Given the description of an element on the screen output the (x, y) to click on. 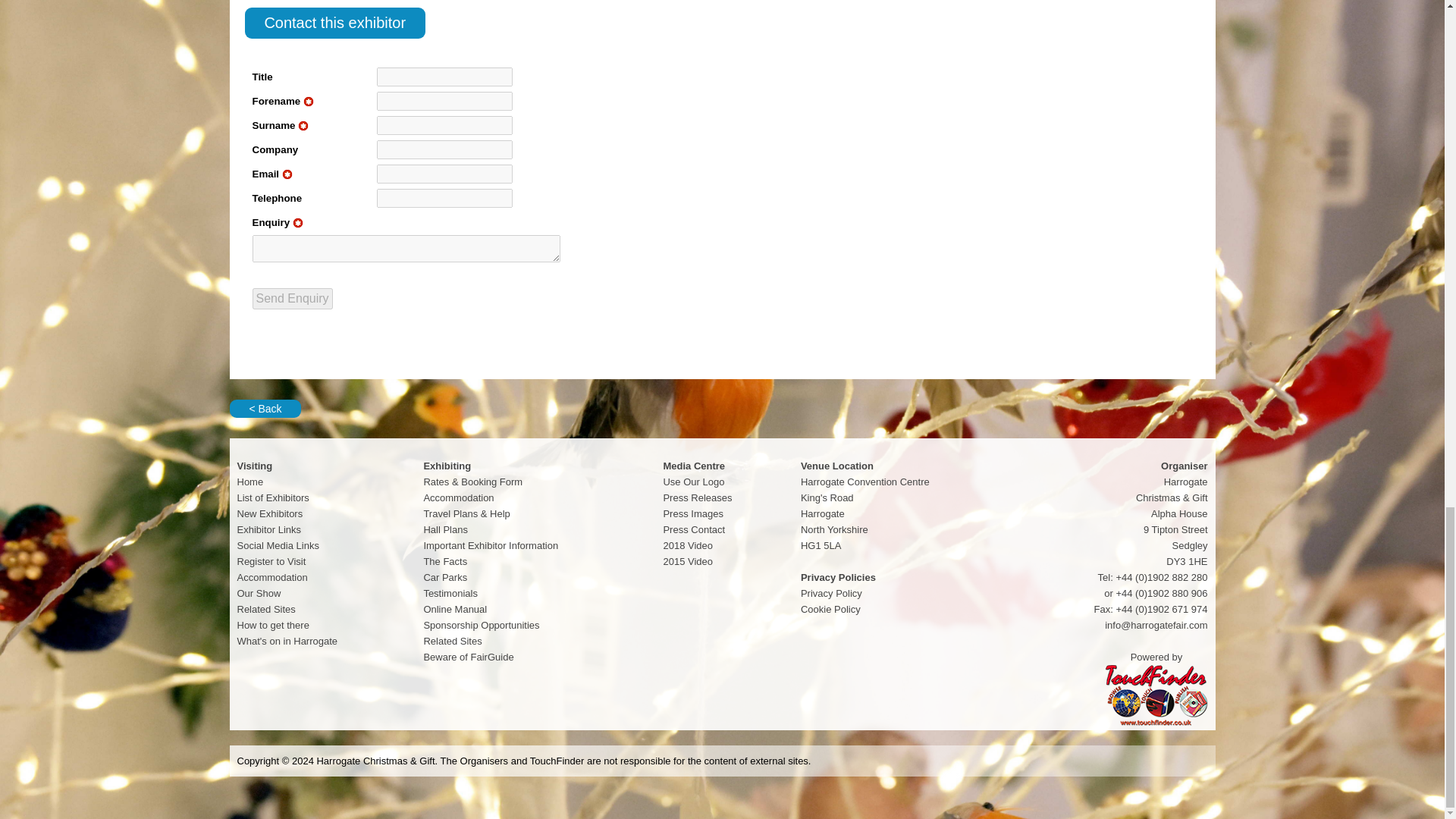
Send Enquiry (291, 298)
